Given the description of an element on the screen output the (x, y) to click on. 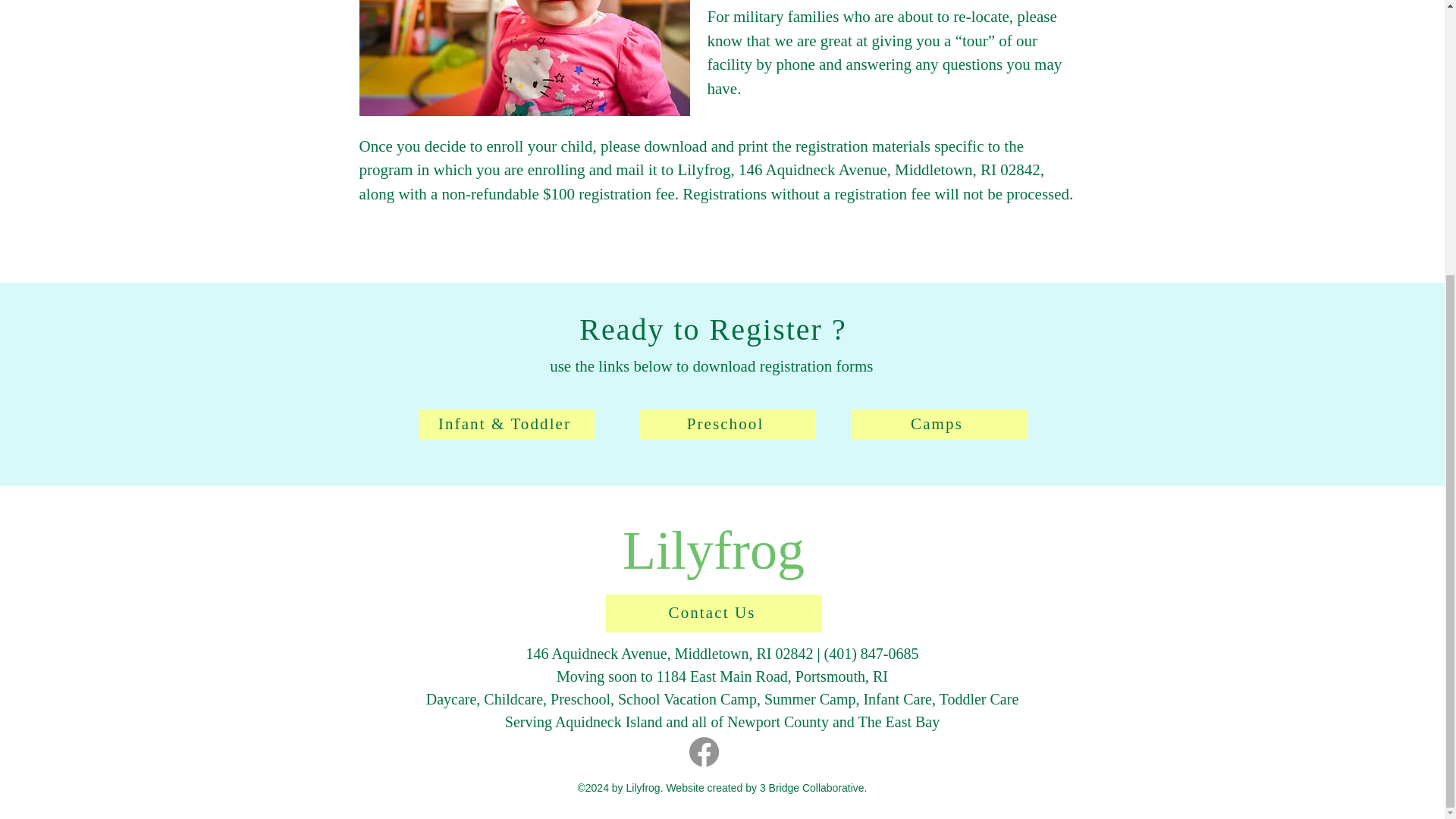
Contact Us (713, 613)
Camps (938, 424)
baby girl smiling at camera.jpg (524, 58)
Preschool (726, 424)
